Given the description of an element on the screen output the (x, y) to click on. 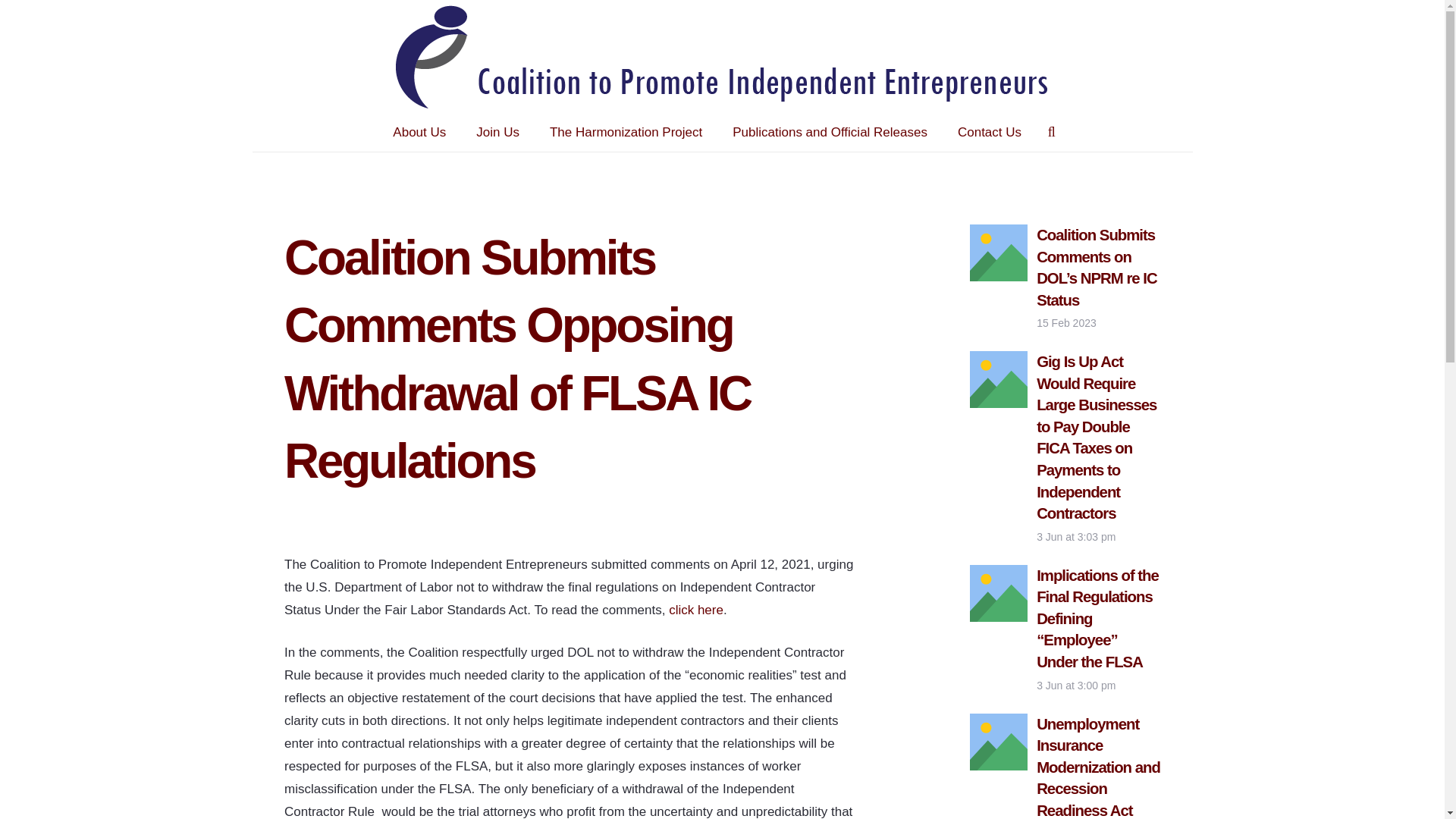
Publications and Official Releases (829, 132)
Contact Us (989, 132)
About Us (419, 132)
Join Us (497, 132)
The Harmonization Project (625, 132)
click here (695, 609)
